Given the description of an element on the screen output the (x, y) to click on. 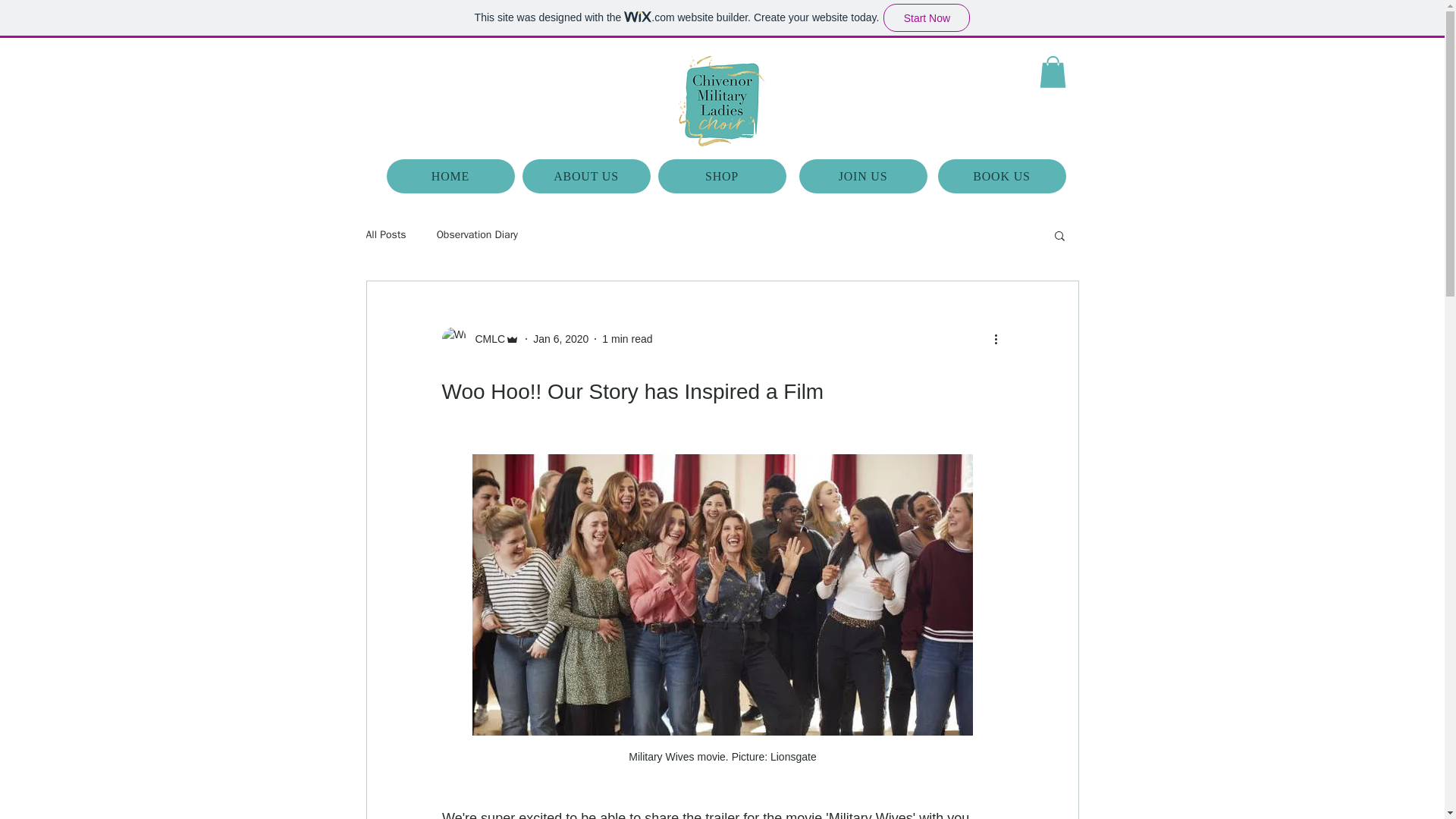
HOME (451, 175)
SHOP (722, 175)
1 min read (627, 337)
Jan 6, 2020 (560, 337)
ABOUT US (585, 175)
BOOK US (1001, 175)
JOIN US (863, 175)
All Posts (385, 234)
Observation Diary (477, 234)
CMLC (485, 338)
CMLC (480, 338)
